Given the description of an element on the screen output the (x, y) to click on. 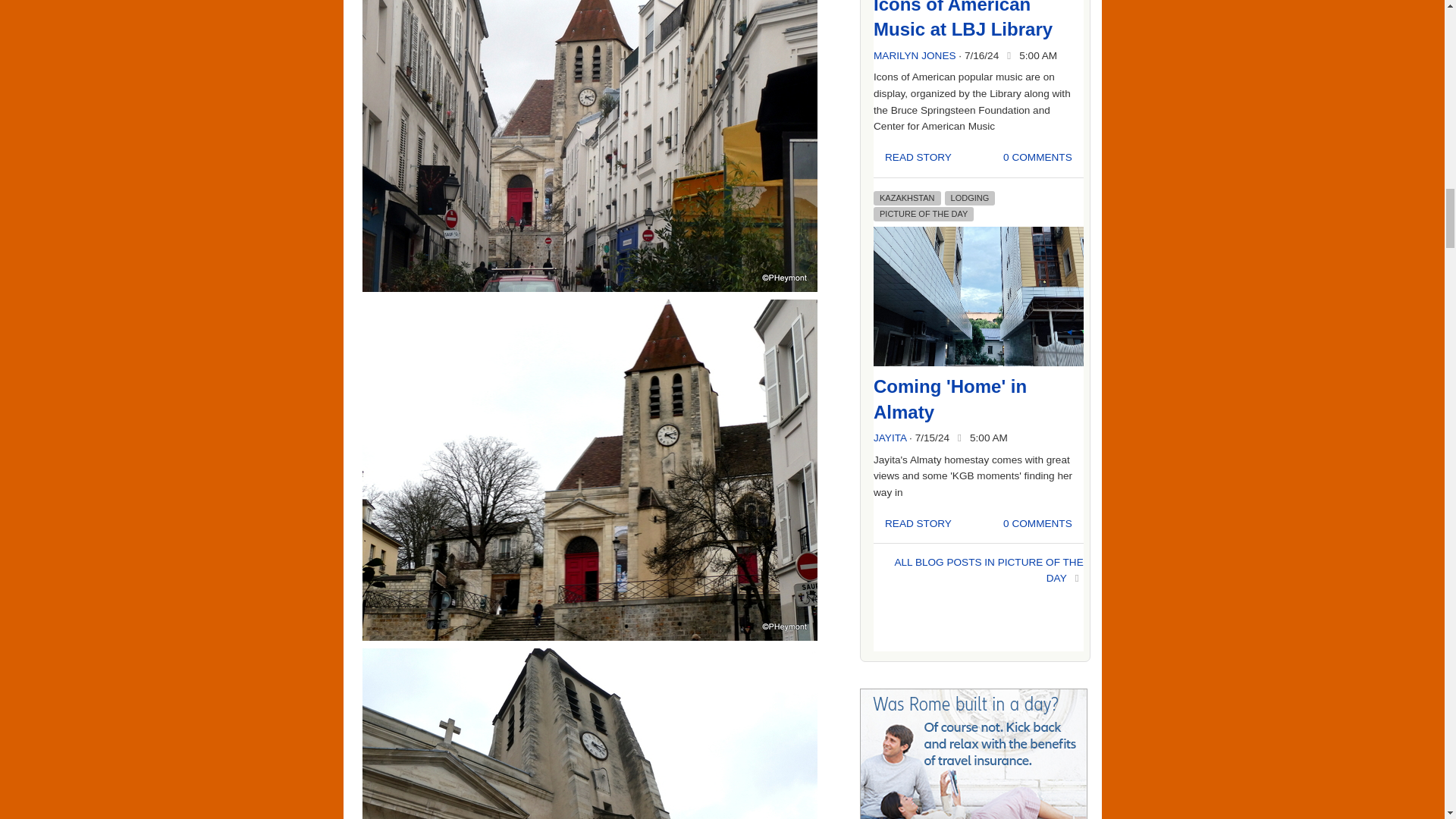
P1210192 (589, 733)
P1210185 (589, 145)
